Given the description of an element on the screen output the (x, y) to click on. 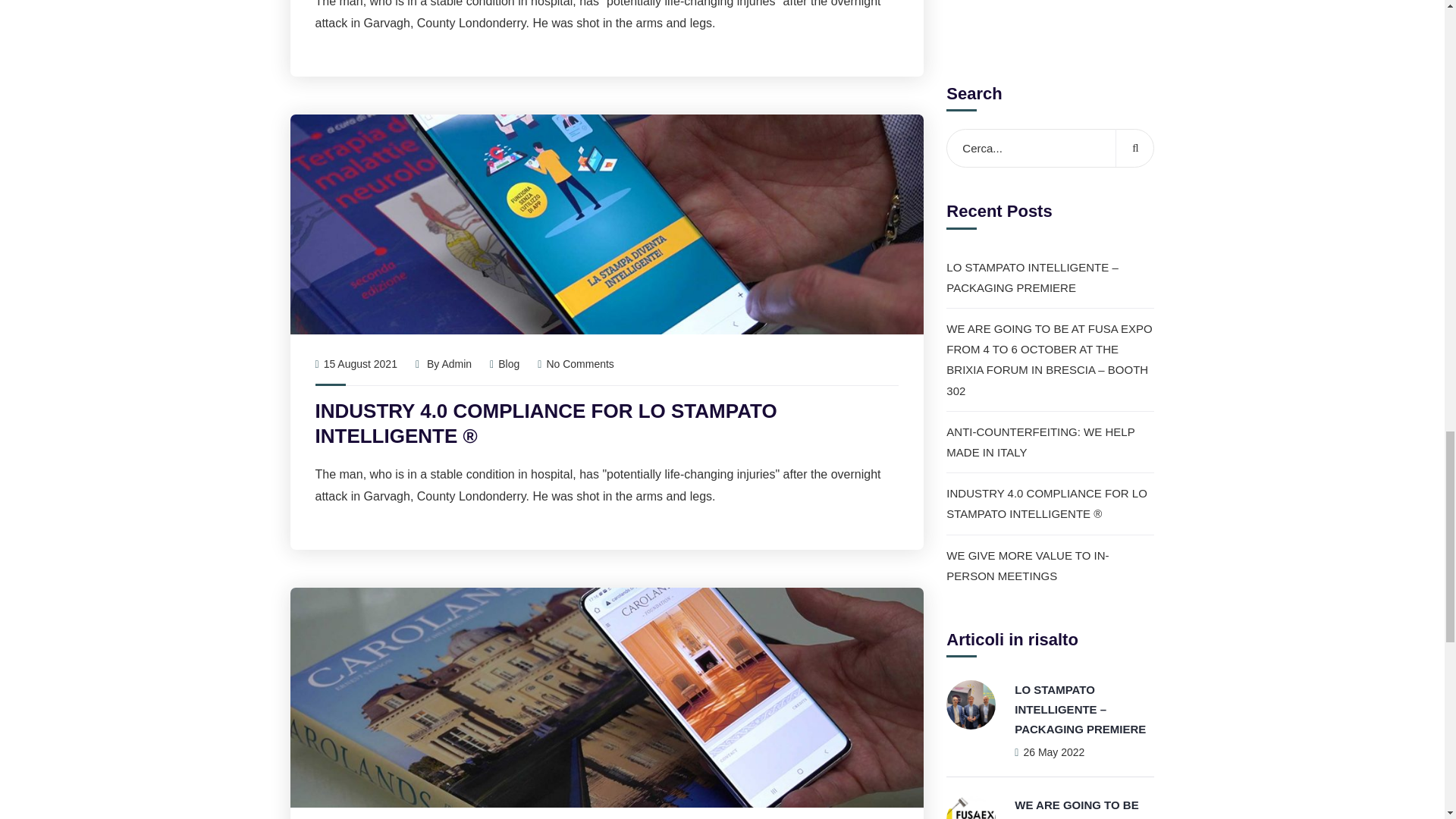
Posts by admin (456, 363)
Admin (456, 363)
No Comments (575, 363)
Blog (508, 363)
